Given the description of an element on the screen output the (x, y) to click on. 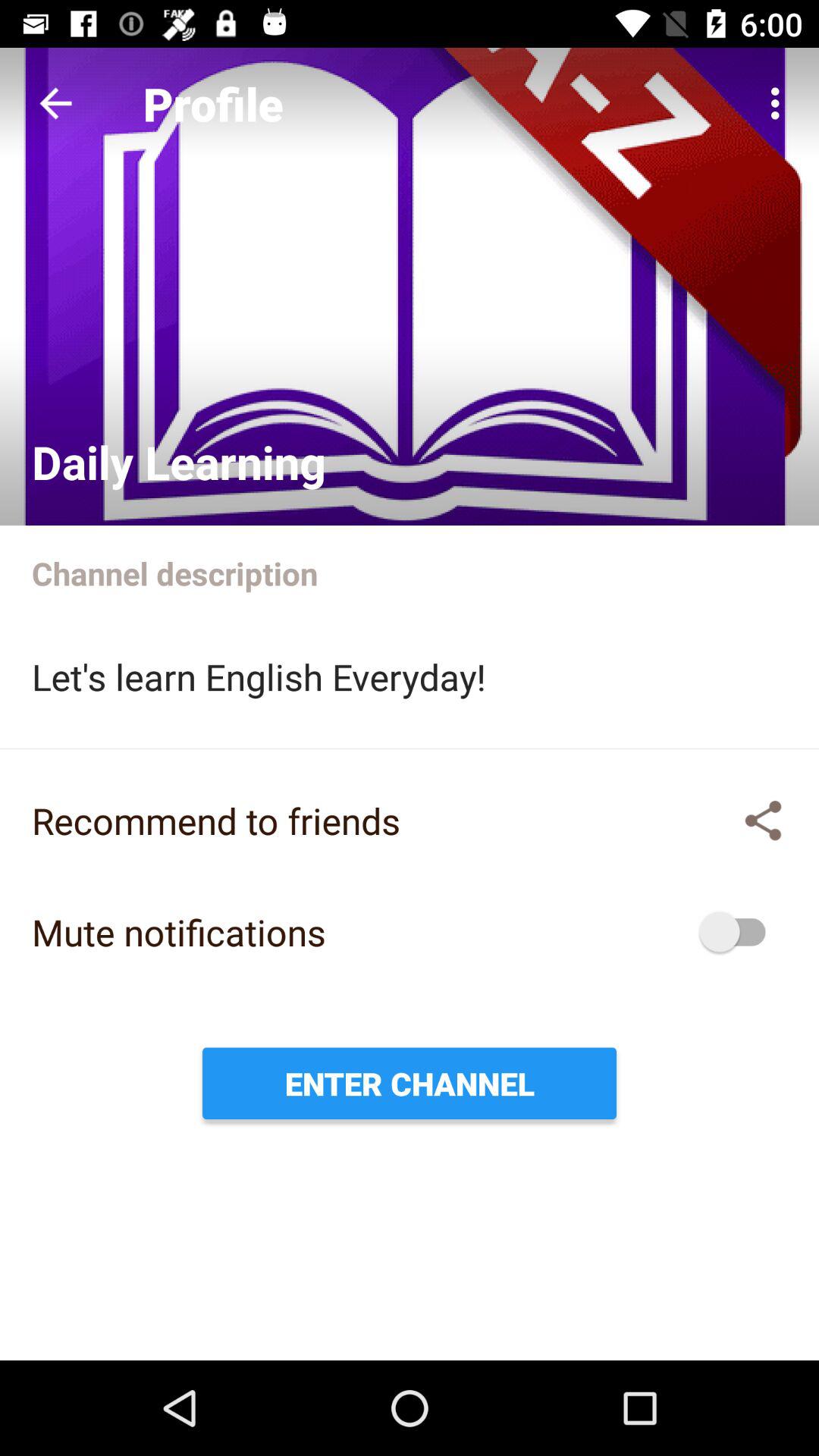
click on the 3 vertical dots icon (779, 103)
